Given the description of an element on the screen output the (x, y) to click on. 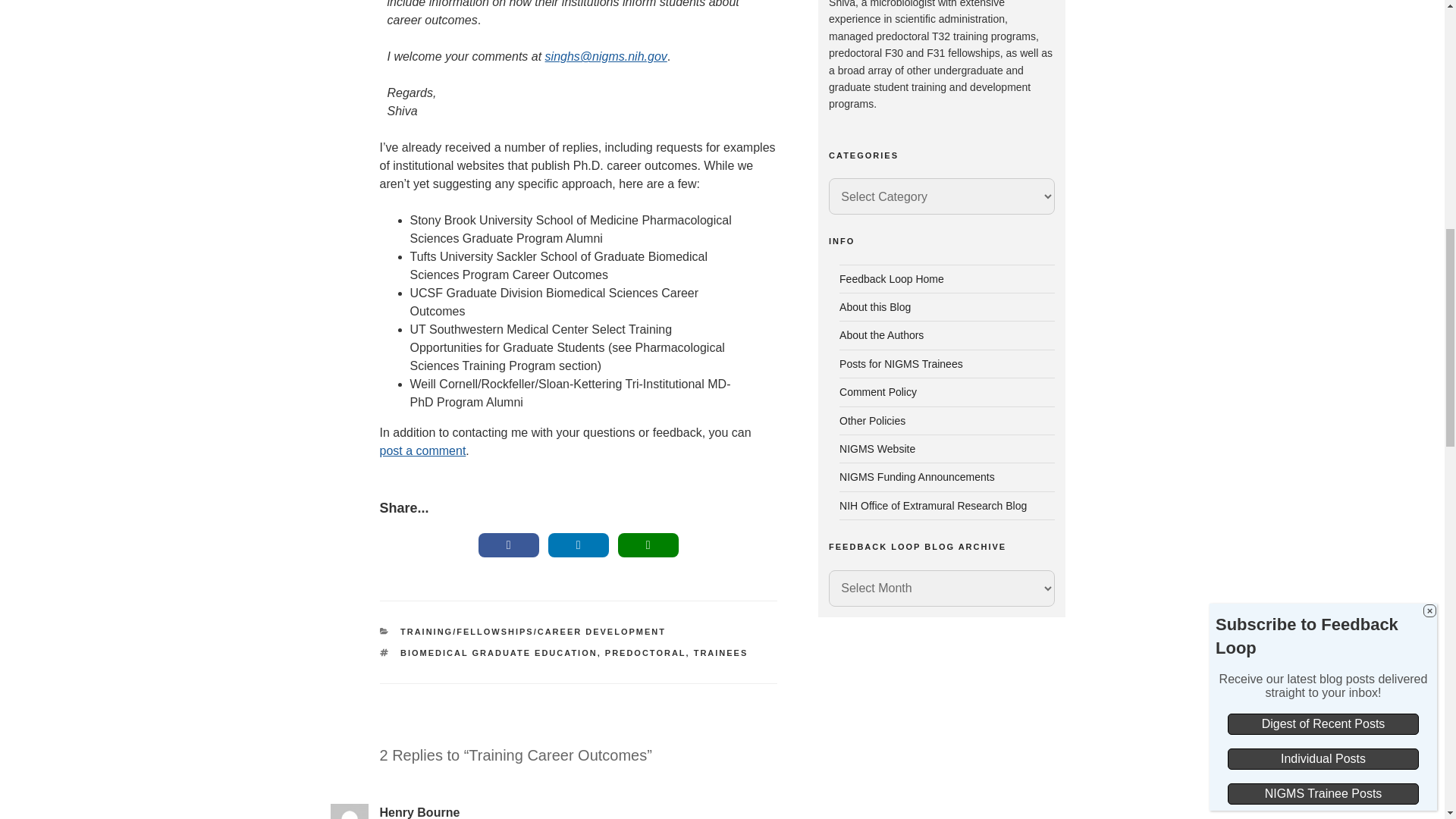
post a comment (421, 450)
Facebook Share (508, 545)
PREDOCTORAL (645, 652)
Feedback Loop Home (891, 278)
About the Authors (881, 335)
About this Blog (875, 306)
BIOMEDICAL GRADUATE EDUCATION (498, 652)
Other Policies (872, 420)
Linkedin Share (578, 545)
TRAINEES (721, 652)
Posts for NIGMS Trainees (901, 363)
Comment Policy (878, 391)
NIGMS Website (877, 449)
Email Share (647, 545)
